Given the description of an element on the screen output the (x, y) to click on. 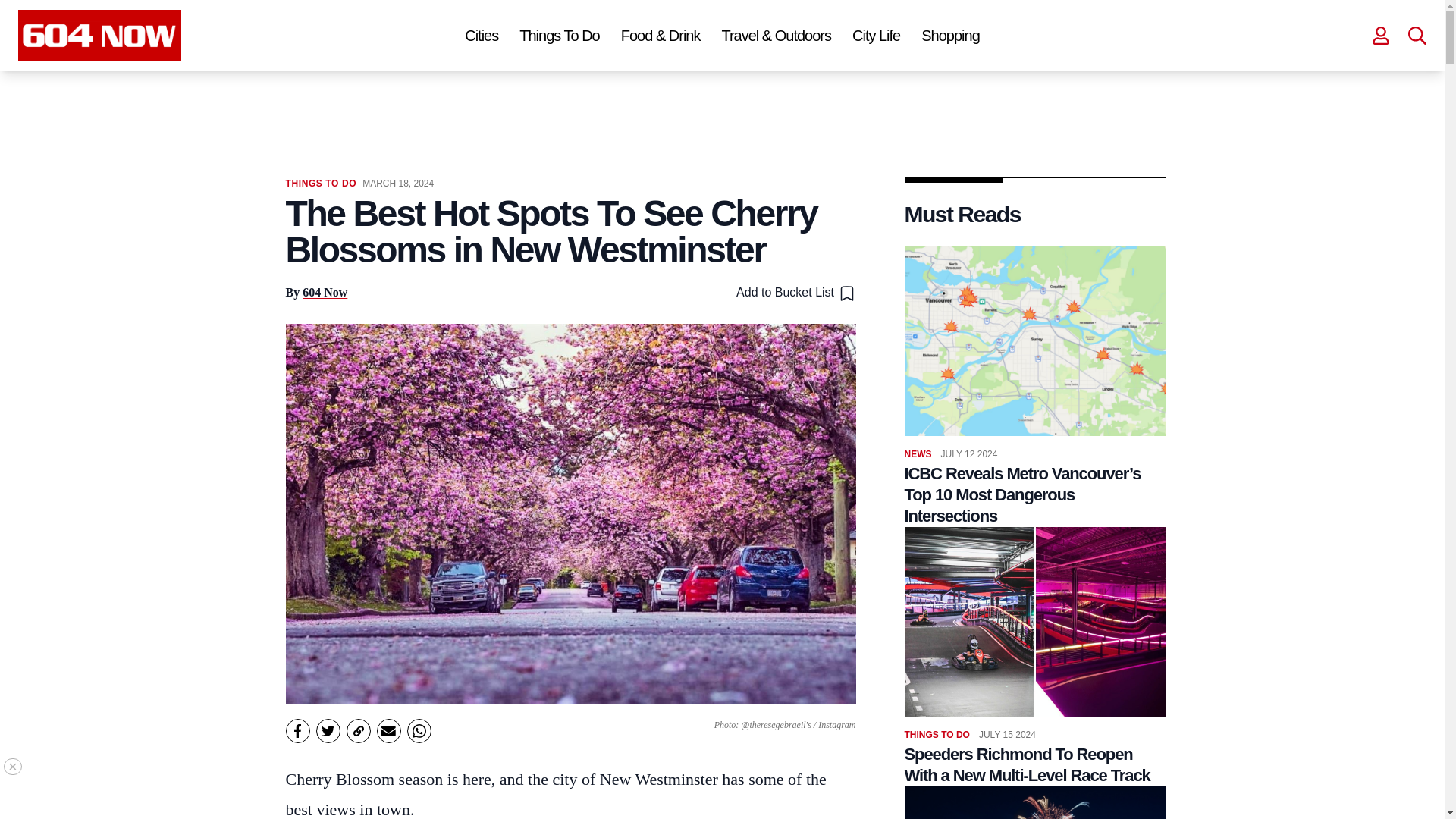
Cities (480, 35)
Posts by 604 Now (324, 291)
